Given the description of an element on the screen output the (x, y) to click on. 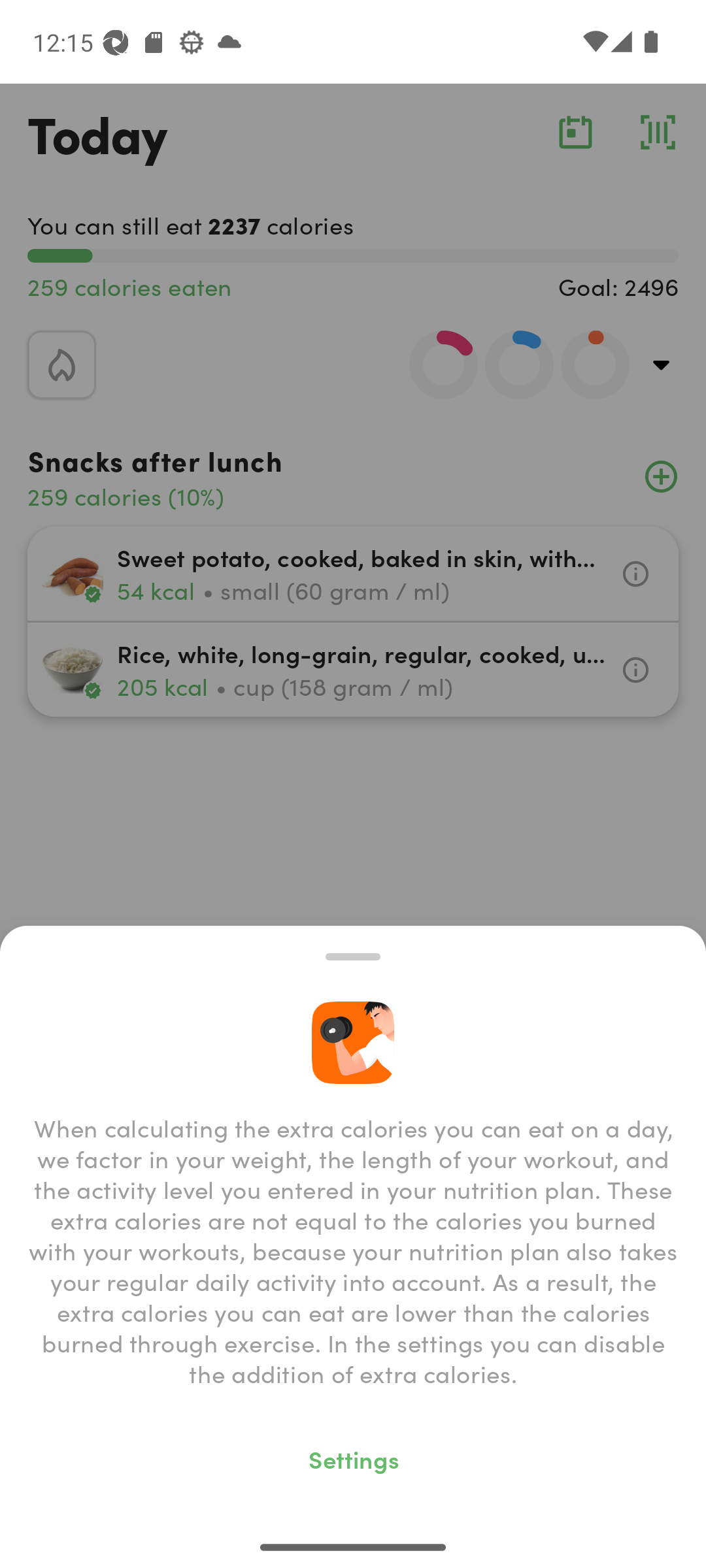
Settings (353, 1458)
